Given the description of an element on the screen output the (x, y) to click on. 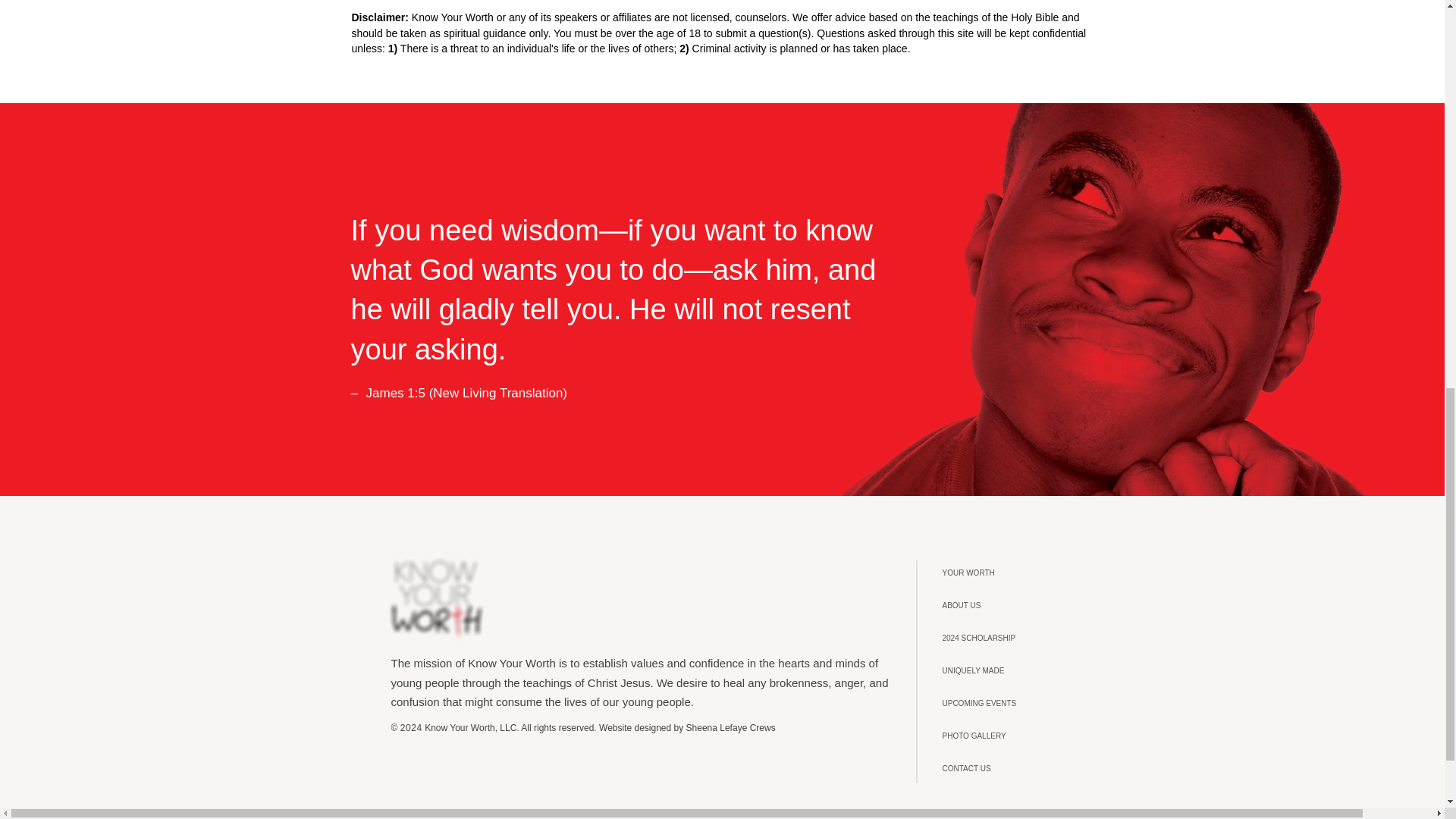
PHOTO GALLERY (1011, 735)
CONTACT US (1011, 768)
ABOUT US (1011, 604)
YOUR WORTH (1011, 572)
UPCOMING EVENTS (1011, 703)
UNIQUELY MADE (1011, 670)
2024 SCHOLARSHIP (1011, 637)
